Given the description of an element on the screen output the (x, y) to click on. 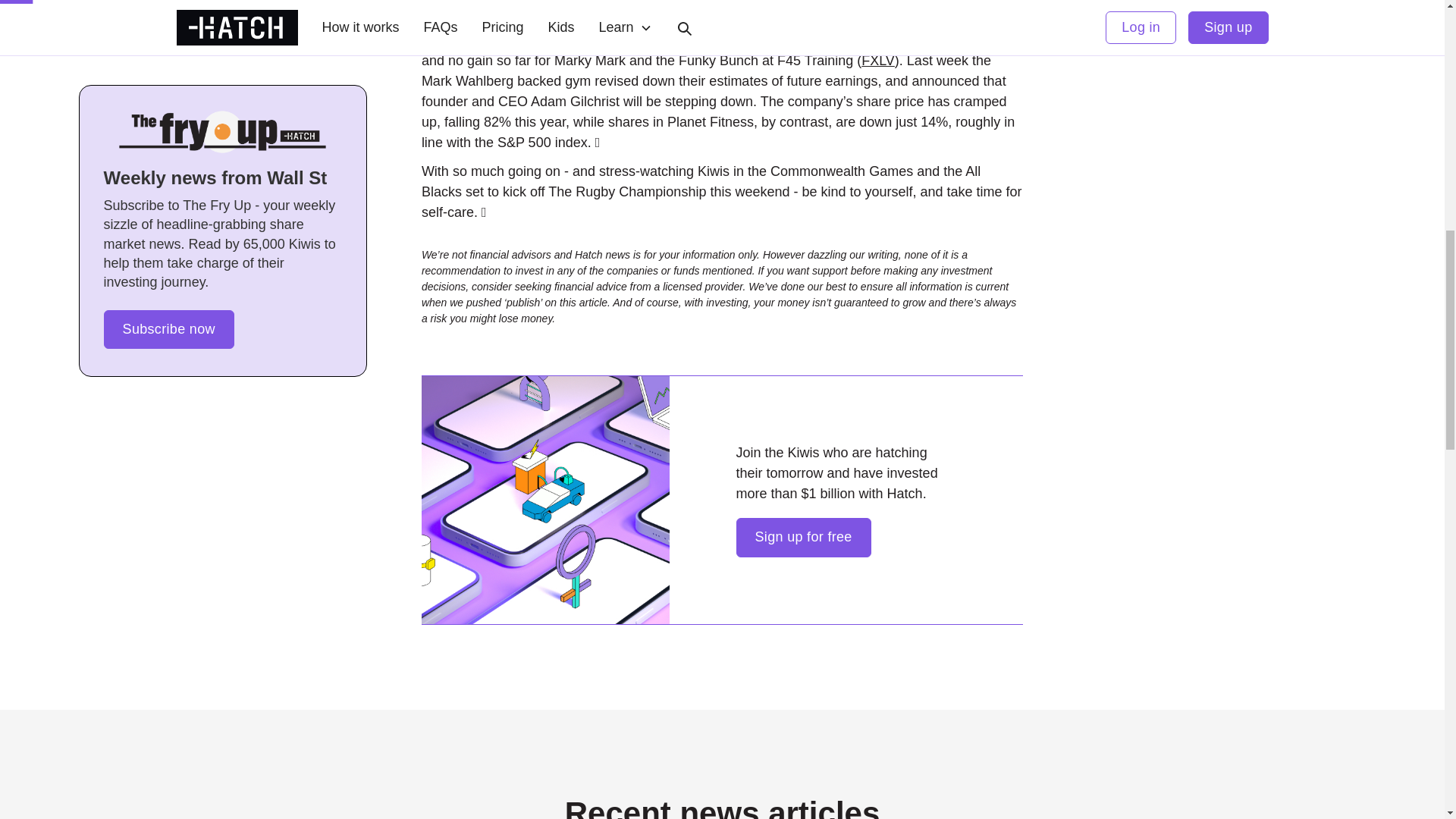
good vibrations (716, 29)
PLNT (758, 39)
Subscribe now (168, 5)
FXLV (878, 60)
Sign up for free (802, 536)
mood booster (627, 19)
